Given the description of an element on the screen output the (x, y) to click on. 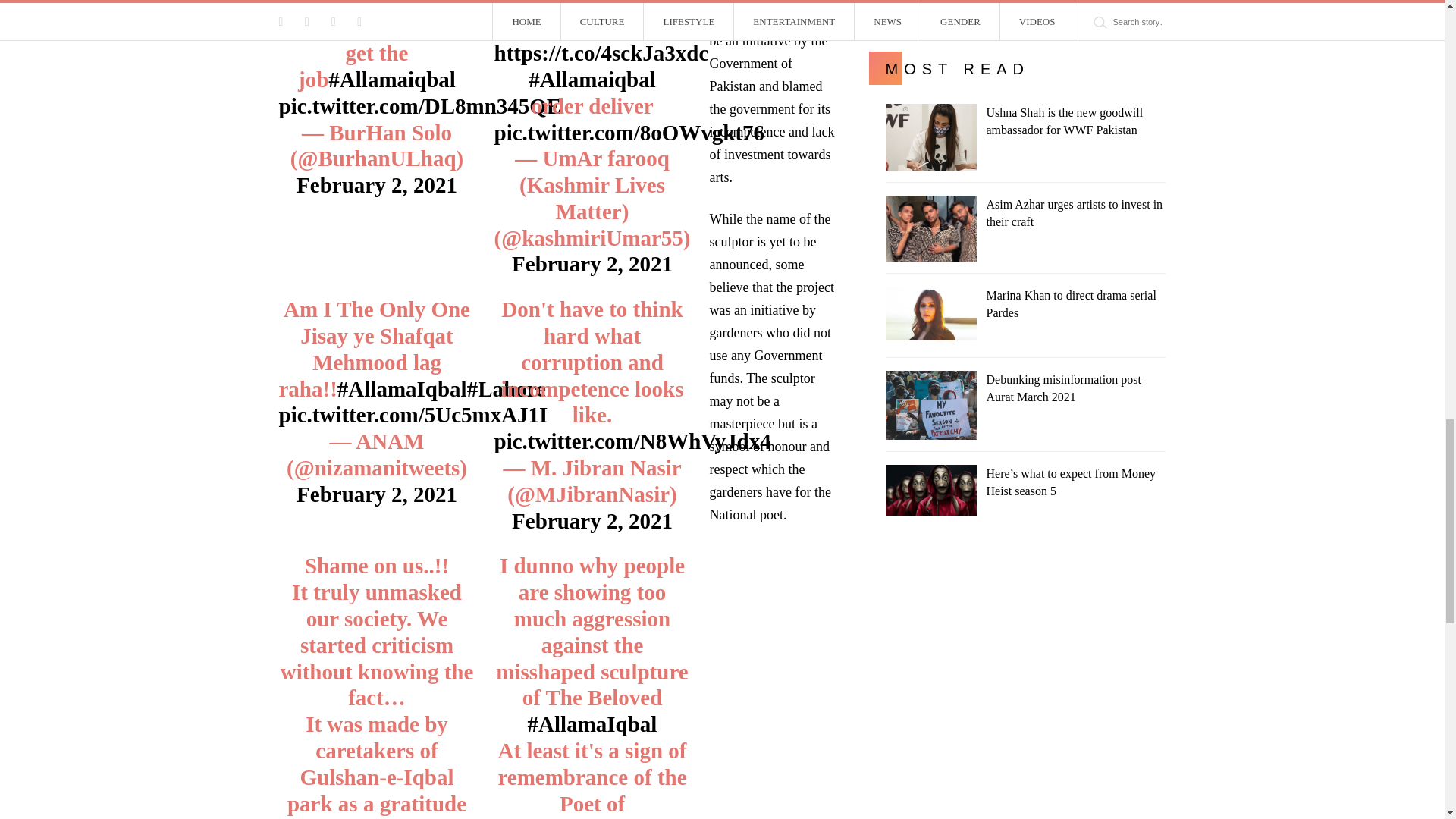
February 2, 2021 (377, 184)
February 2, 2021 (592, 263)
